Given the description of an element on the screen output the (x, y) to click on. 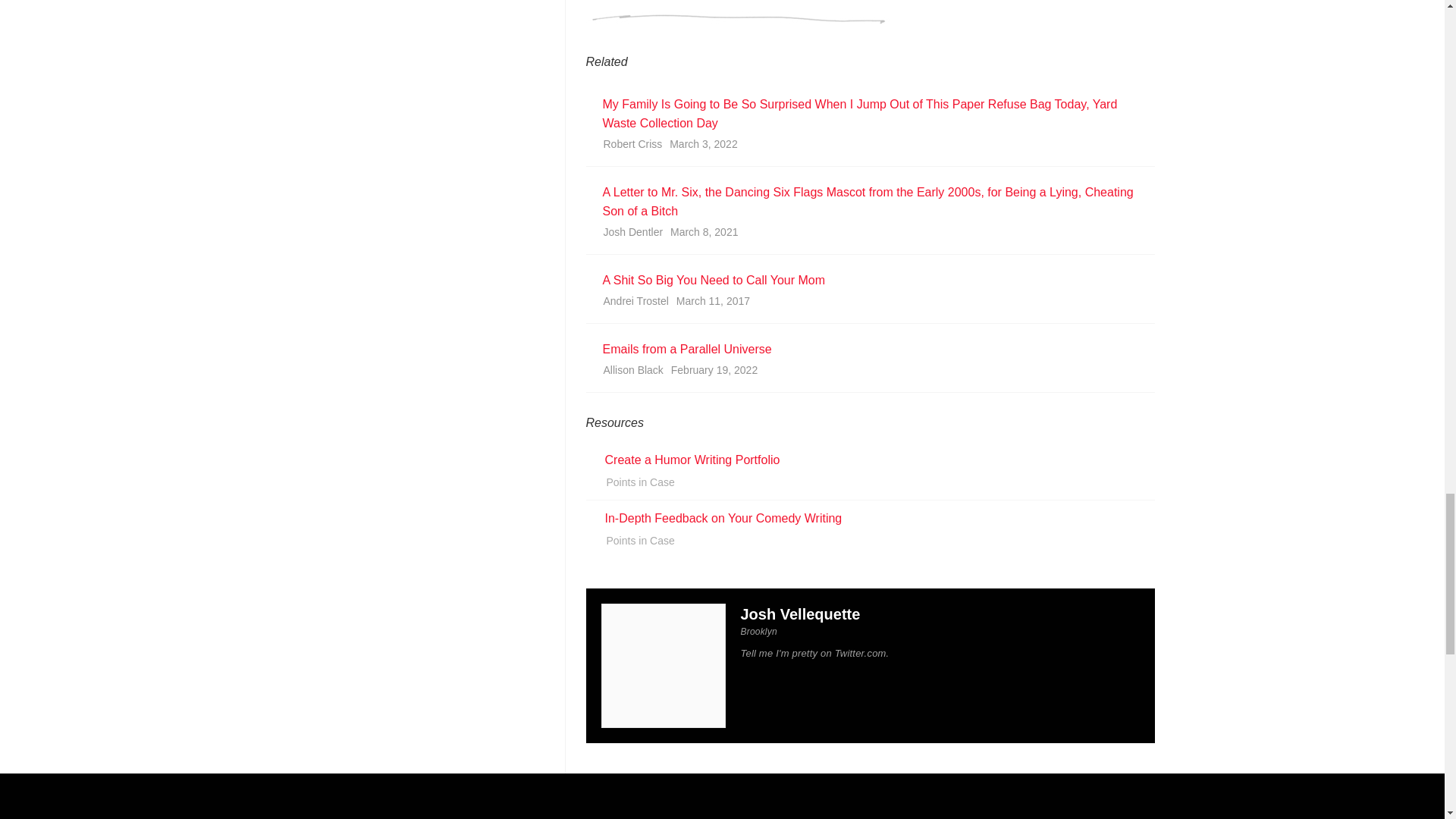
Posts by Josh Vellequette (799, 614)
Andrei Trostel March 11, 2017 (867, 303)
Emails from a Parallel Universe (867, 348)
In-Depth Feedback on Your Comedy Writing (724, 517)
Create a Humor Writing Portfolio (692, 459)
Josh Vellequette (799, 614)
Robert Criss March 3, 2022 (867, 146)
Allison Black February 19, 2022 (867, 372)
A Shit So Big You Need to Call Your Mom (867, 280)
Josh Dentler March 8, 2021 (867, 234)
